Given the description of an element on the screen output the (x, y) to click on. 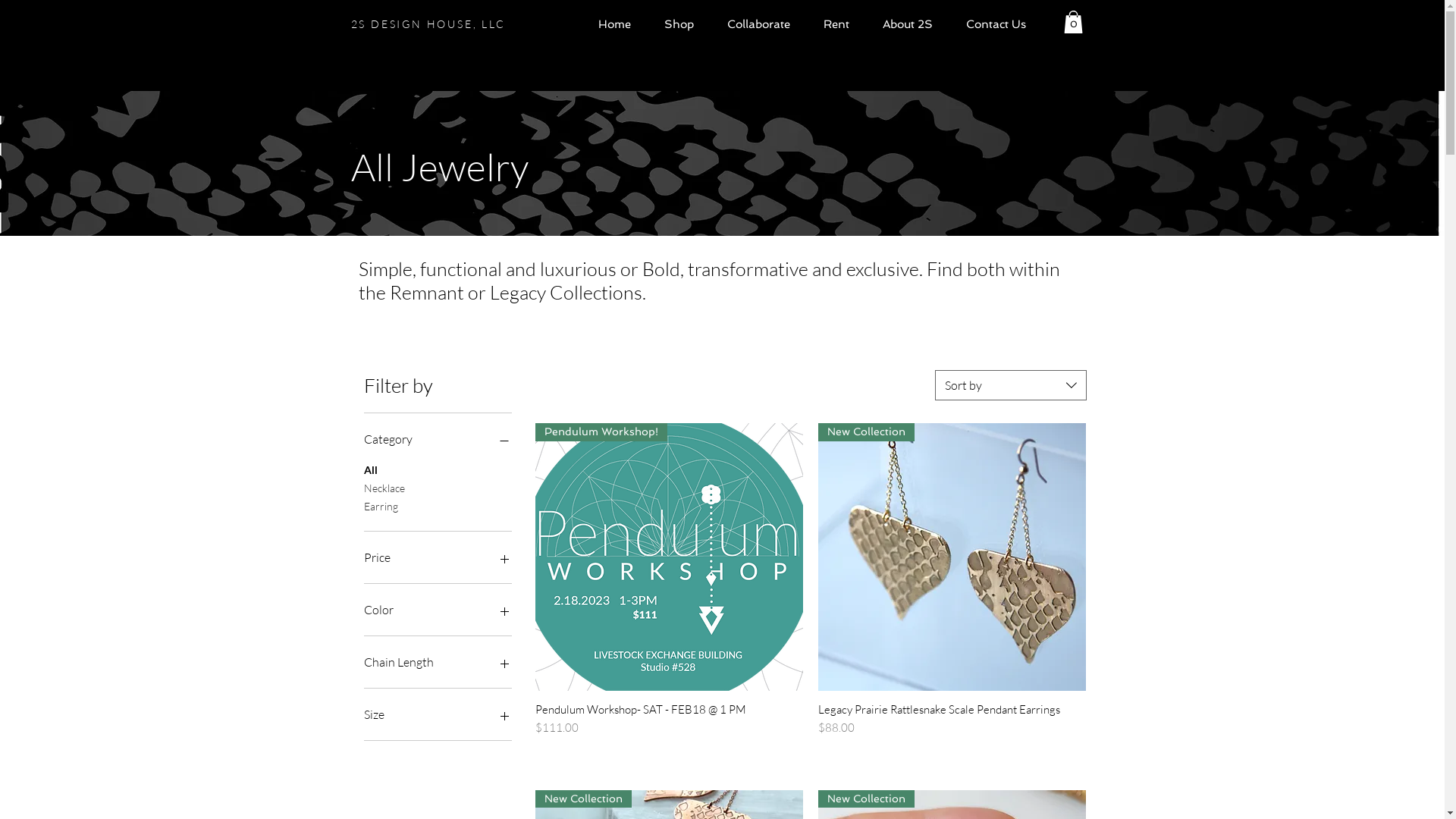
Size Element type: text (438, 713)
Chain Length Element type: text (438, 661)
Home Element type: text (613, 22)
About 2S Element type: text (907, 22)
Pendulum Workshop- SAT - FEB18 @ 1 PM
Price
$111.00 Element type: text (669, 719)
Pendulum Workshop! Element type: text (669, 556)
Rent Element type: text (836, 22)
Sort by Element type: text (1009, 385)
Collaborate Element type: text (757, 22)
0 Element type: text (1072, 21)
New Collection Element type: text (951, 556)
2S DESIGN HOUSE, LLC Element type: text (427, 23)
Price Element type: text (438, 556)
Contact Us Element type: text (995, 22)
Category Element type: text (438, 438)
Color Element type: text (438, 609)
